Given the description of an element on the screen output the (x, y) to click on. 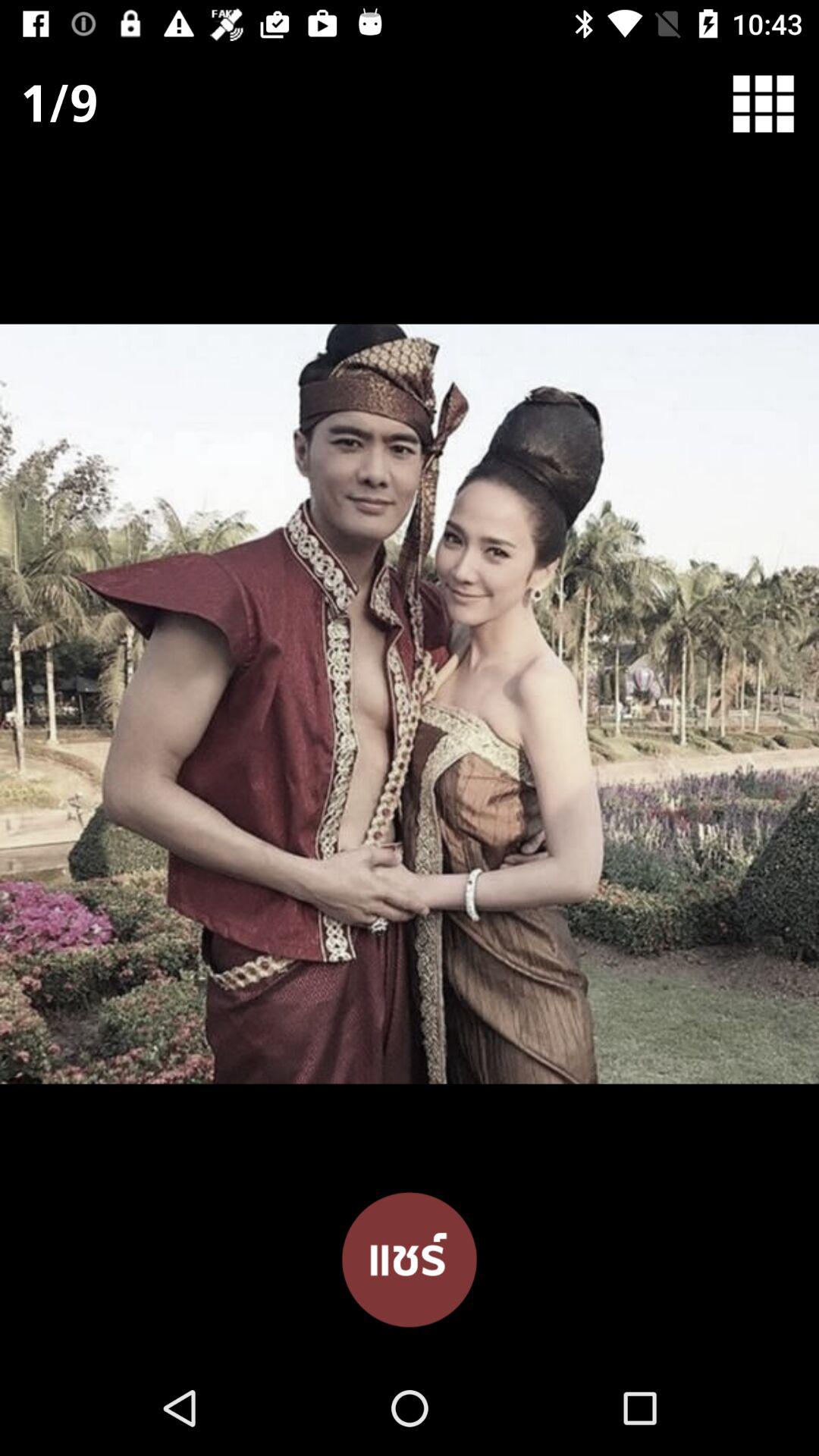
home options (773, 103)
